Given the description of an element on the screen output the (x, y) to click on. 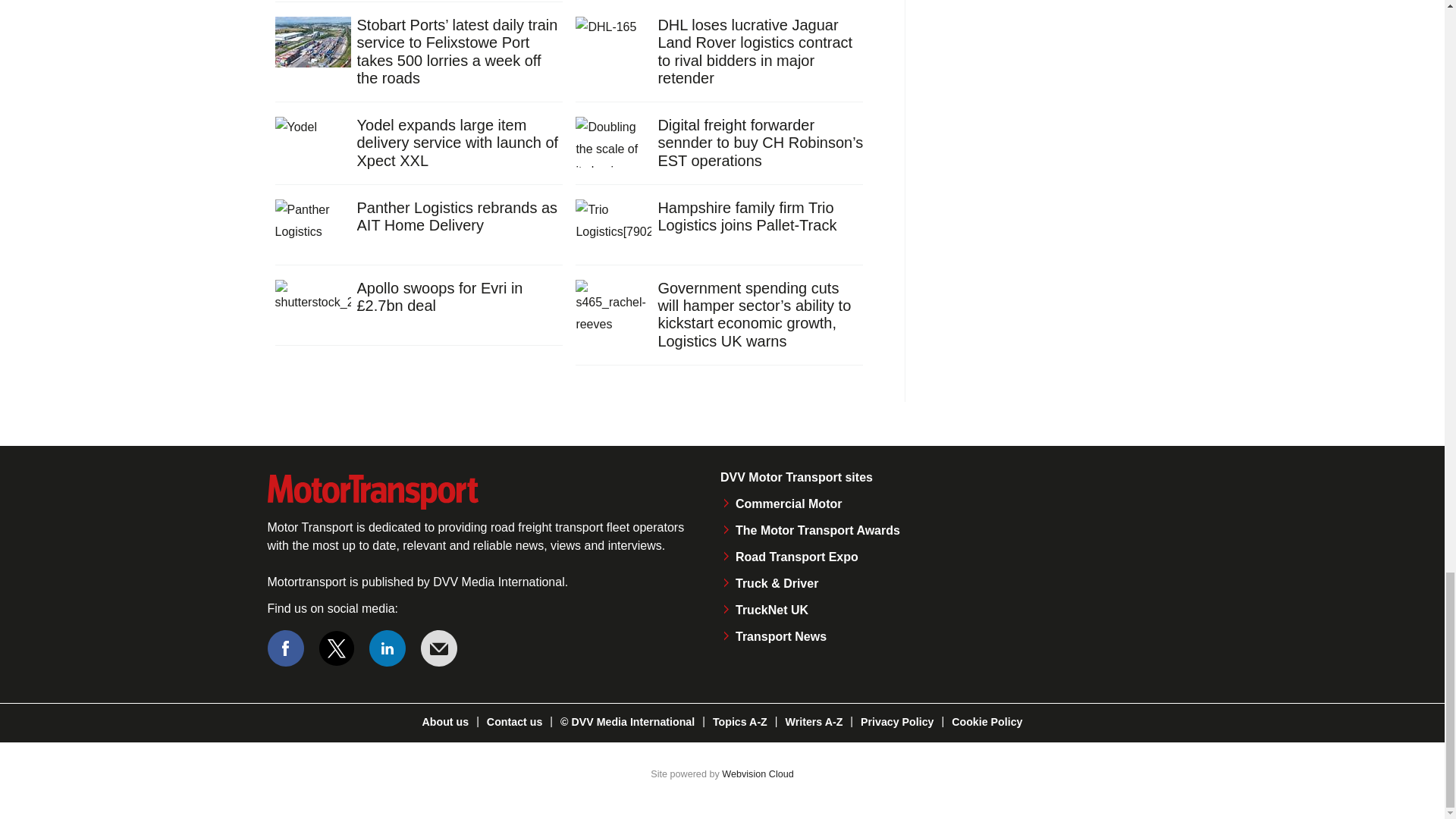
Connect with us on Twitter (336, 647)
Connect with us on Facebook (284, 647)
Connect with us on Linked in (387, 647)
Email us (438, 647)
